Given the description of an element on the screen output the (x, y) to click on. 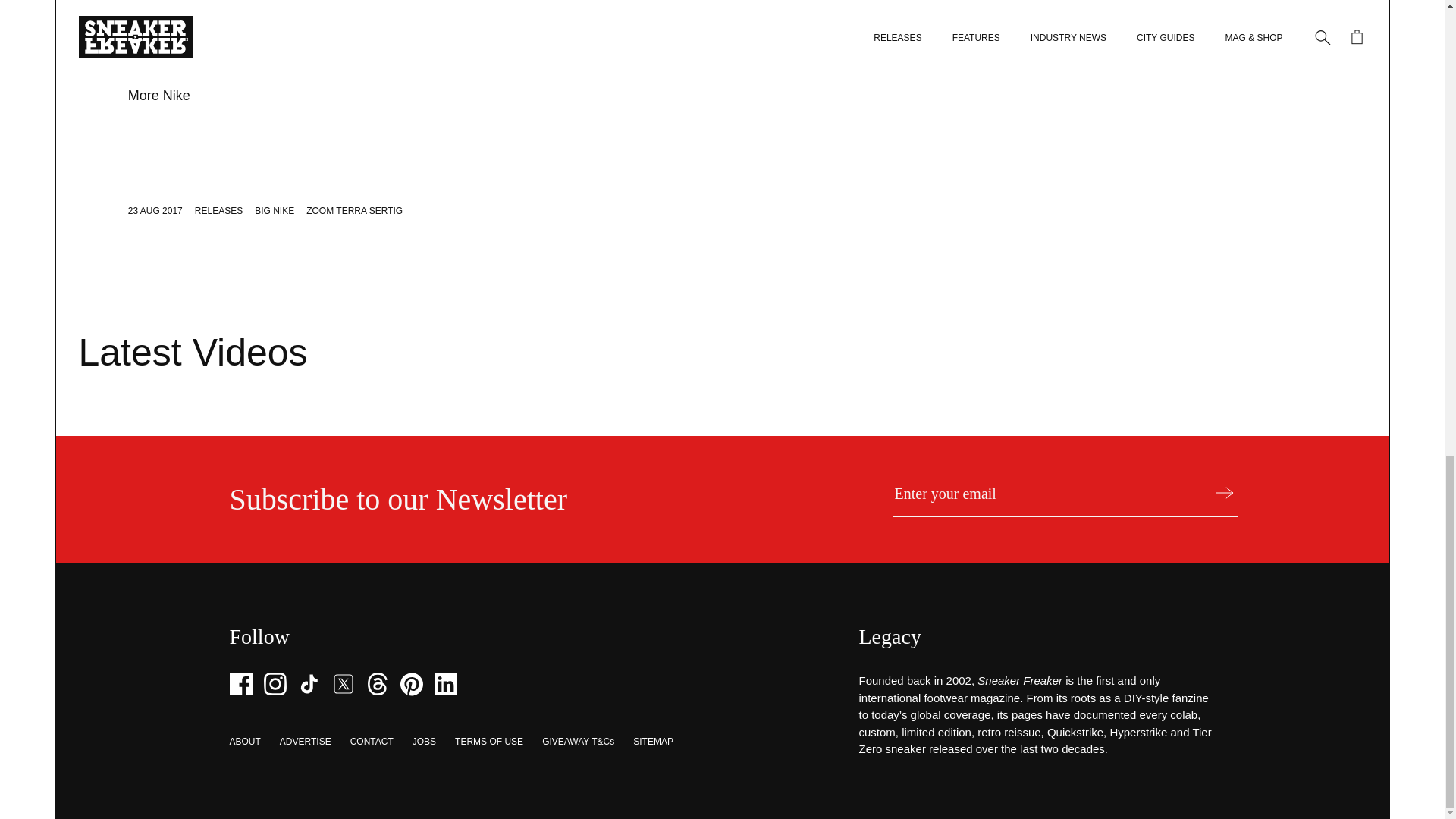
ADVERTISE (305, 741)
ZOOM TERRA SERTIG (354, 210)
SITEMAP (652, 741)
RELEASES (219, 210)
TERMS OF USE (488, 741)
ABOUT (244, 741)
BIG NIKE (274, 210)
stockists (621, 54)
CONTACT (371, 741)
JOBS (423, 741)
